Given the description of an element on the screen output the (x, y) to click on. 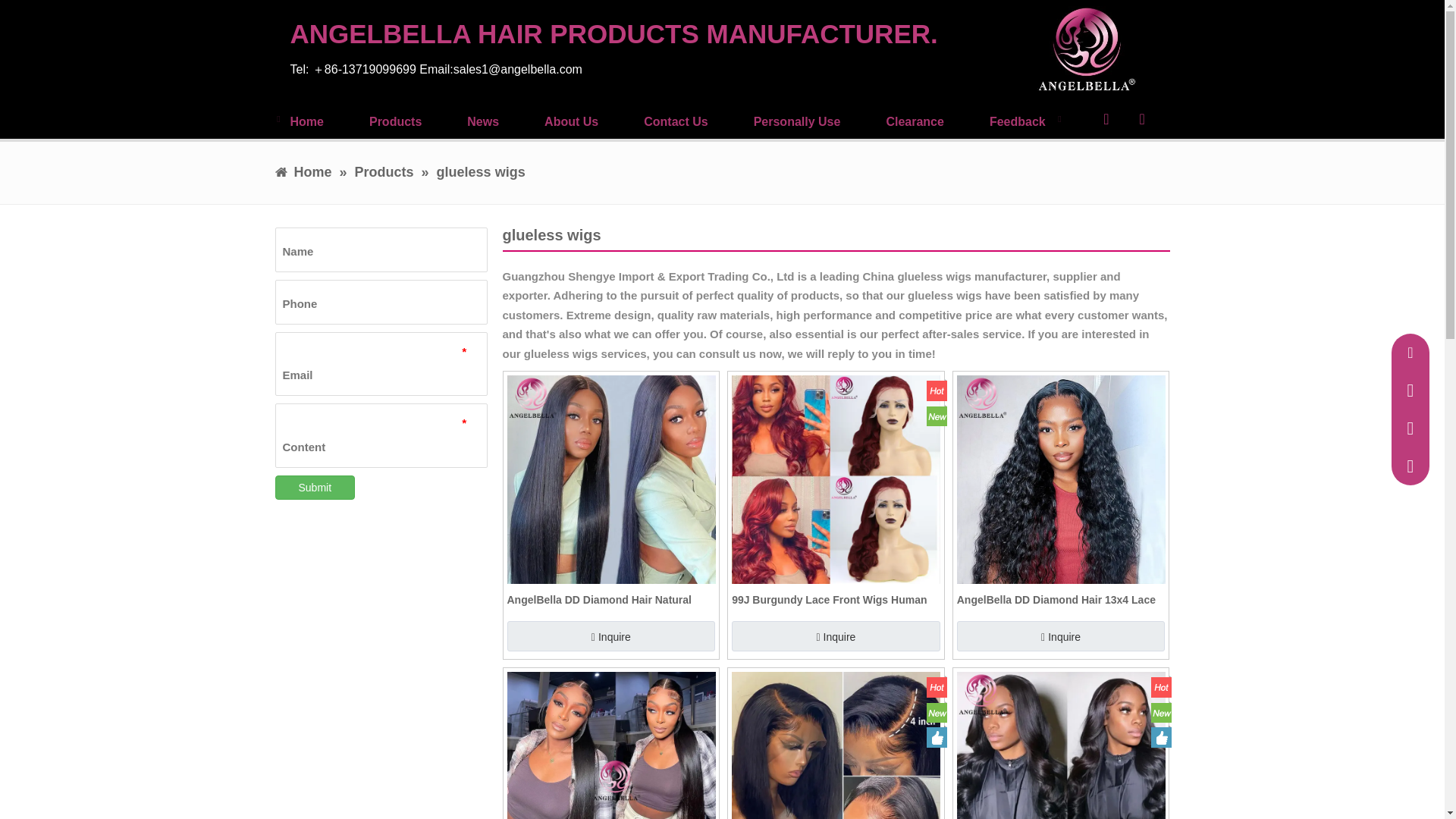
About Us (571, 122)
Contact Us (675, 122)
Clearance (914, 122)
Products (395, 122)
